Given the description of an element on the screen output the (x, y) to click on. 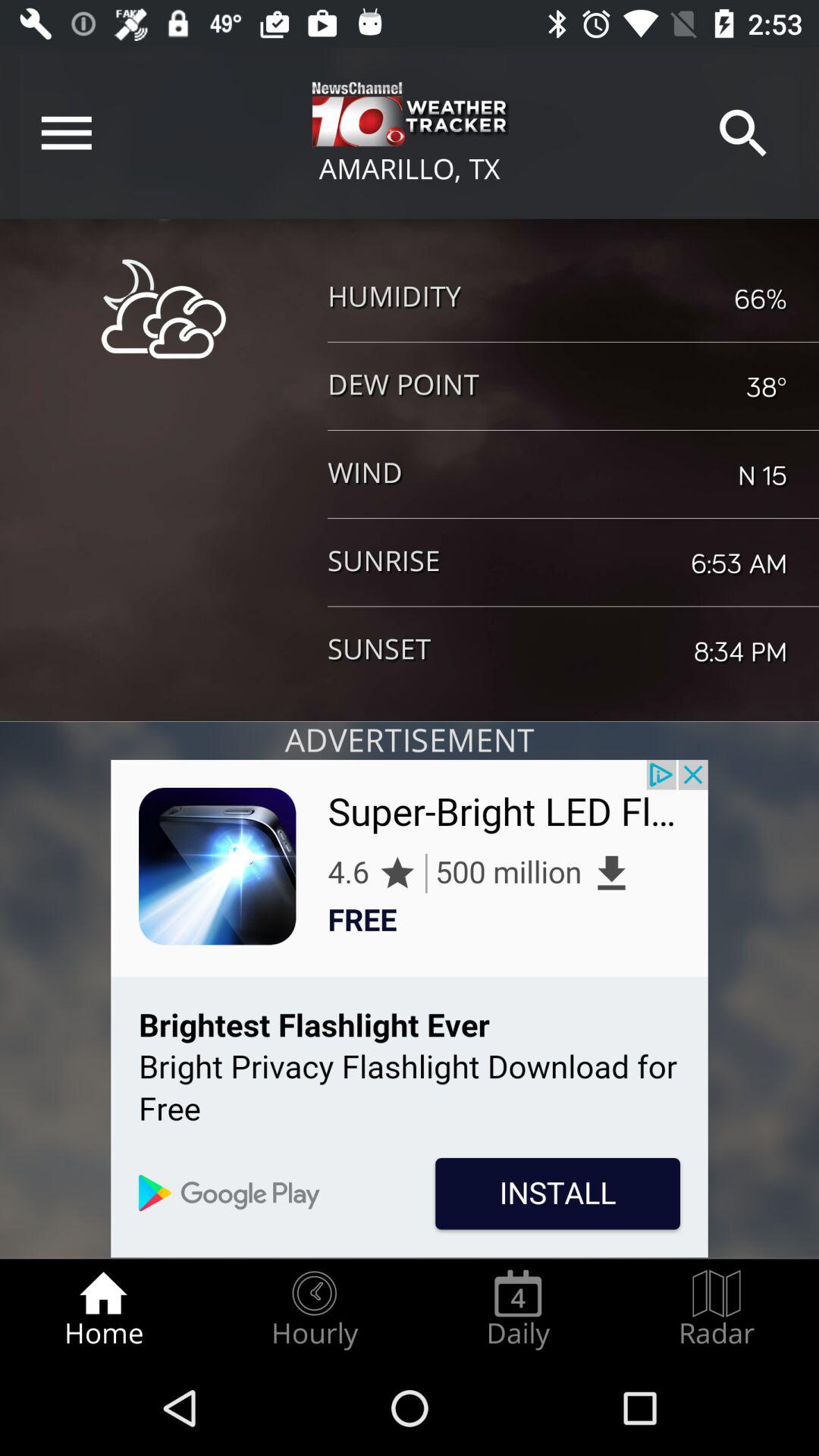
choose the radio button next to hourly radio button (518, 1309)
